Given the description of an element on the screen output the (x, y) to click on. 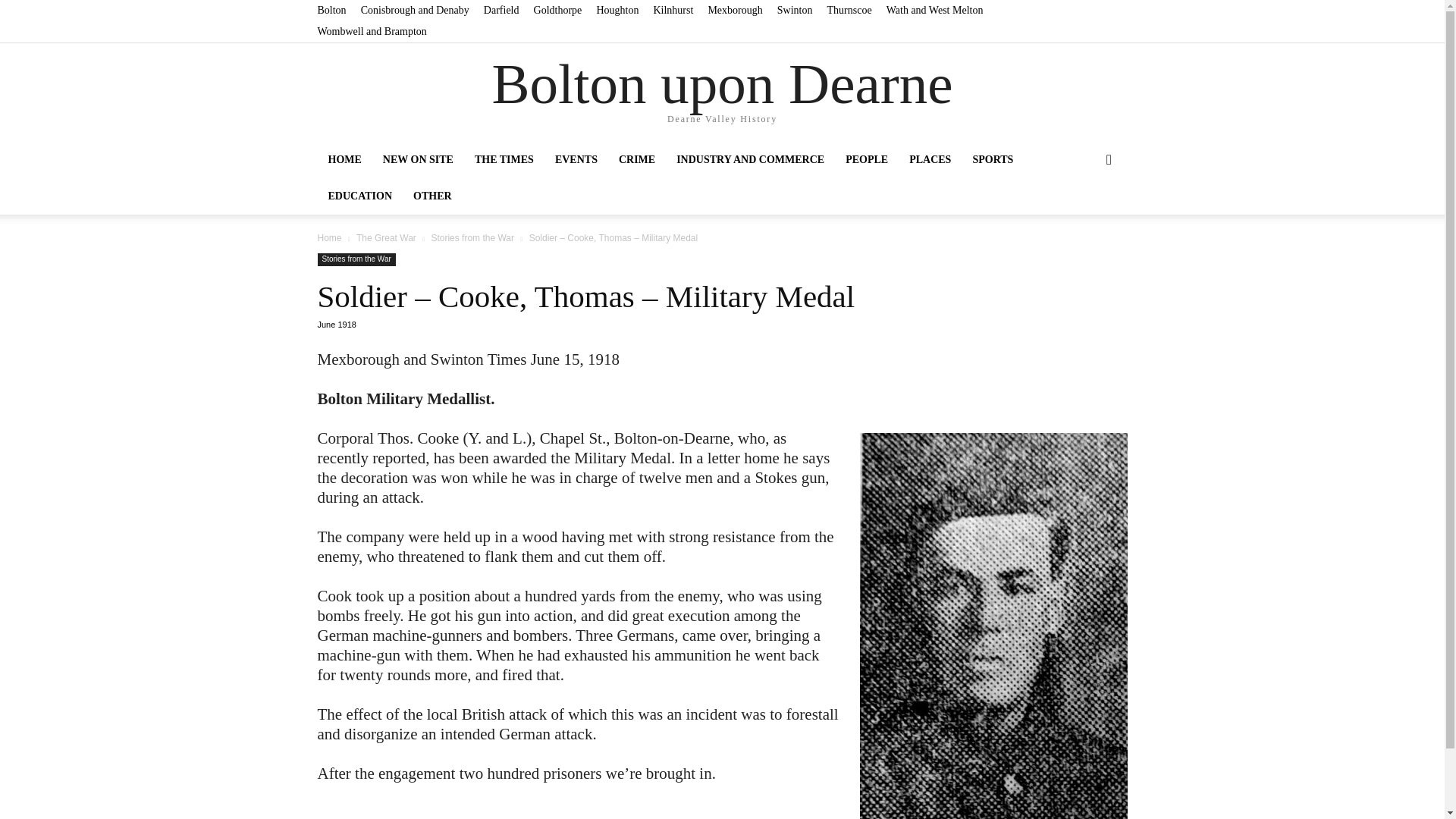
Wath and West Melton (935, 9)
Conisbrough and Denaby (414, 9)
PLACES (929, 159)
Kilnhurst (672, 9)
Wombwell and Brampton (371, 30)
HOME (344, 159)
Houghton (617, 9)
View all posts in The Great War (386, 237)
Bolton (331, 9)
Bolton upon Dearne Dearne Valley History (722, 93)
Darfield (501, 9)
View all posts in Stories from the War (471, 237)
EVENTS (576, 159)
Thurnscoe (849, 9)
PEOPLE (866, 159)
